Given the description of an element on the screen output the (x, y) to click on. 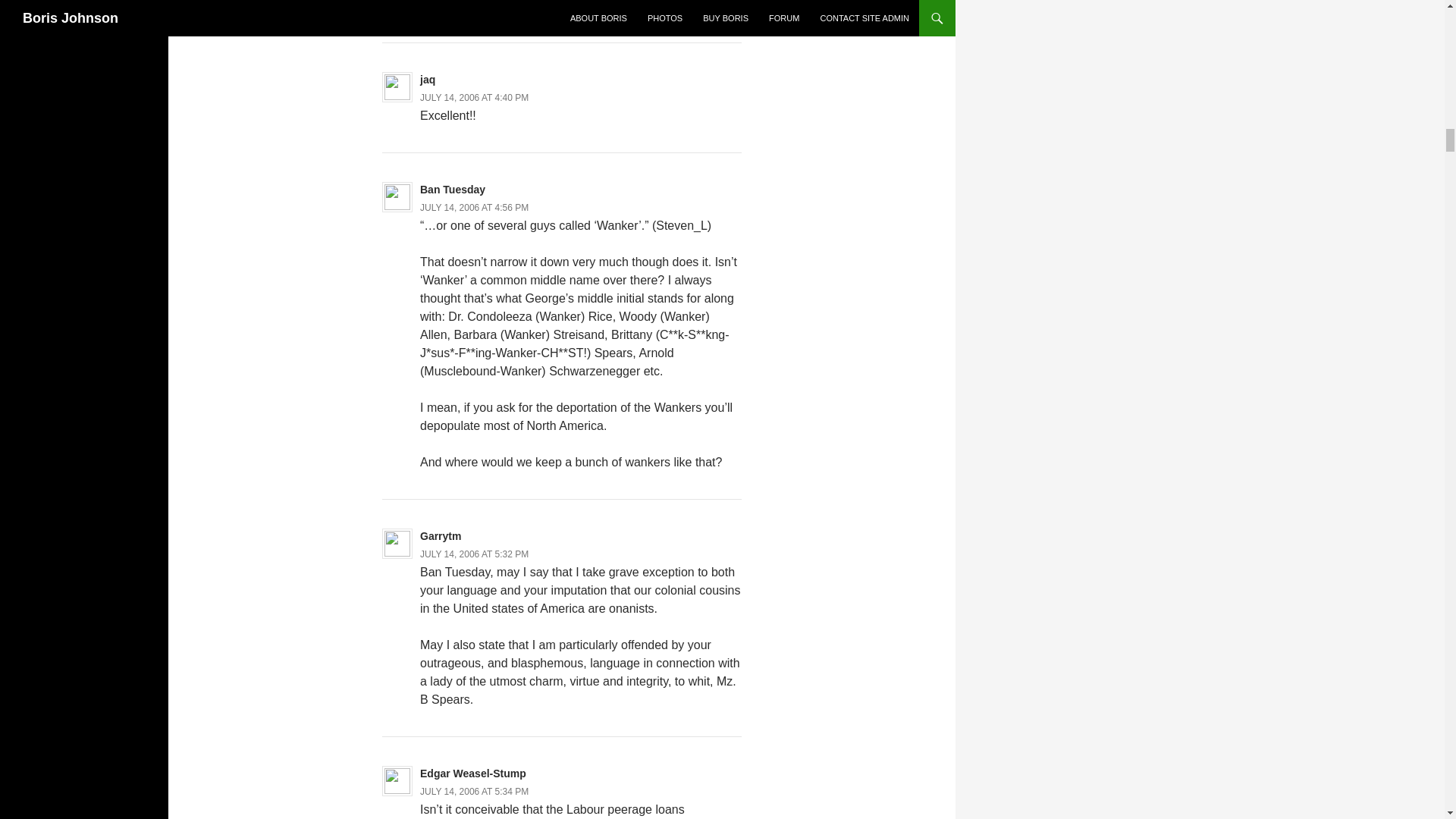
JULY 14, 2006 AT 4:40 PM (474, 97)
JULY 14, 2006 AT 4:56 PM (474, 207)
JULY 14, 2006 AT 5:32 PM (474, 553)
